Given the description of an element on the screen output the (x, y) to click on. 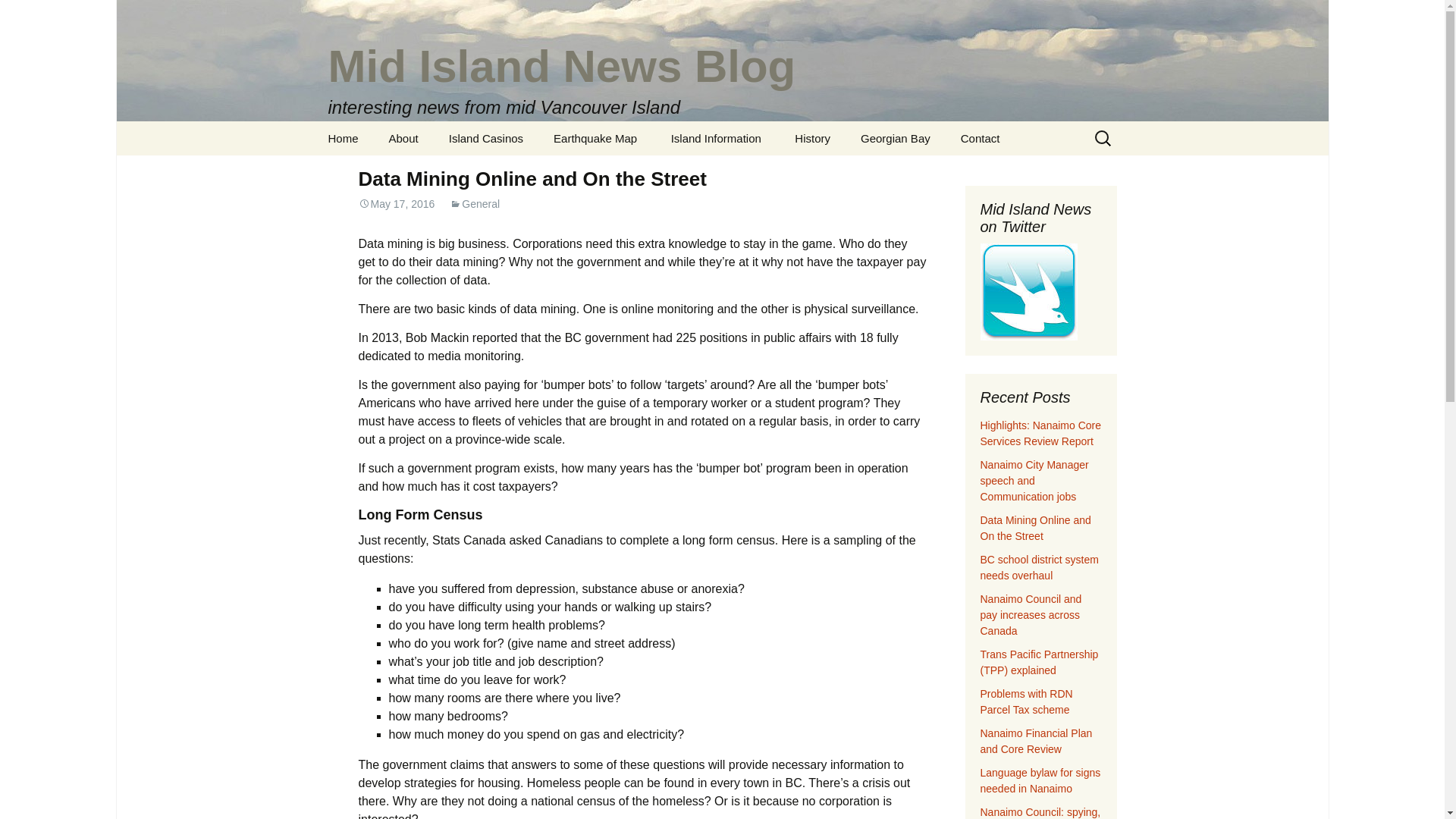
Home (342, 138)
Earthquake Map (595, 138)
Island Casinos (485, 138)
Search (18, 15)
Contact (979, 138)
Coast Salish Nobility Blankets (854, 177)
Vancouver Island Ship Traffic (614, 177)
Mid Island News Blog (722, 60)
May 17, 2016 (395, 203)
Permalink to Data Mining Online and On the Street (395, 203)
About (403, 138)
Island Information (716, 138)
General (474, 203)
